Given the description of an element on the screen output the (x, y) to click on. 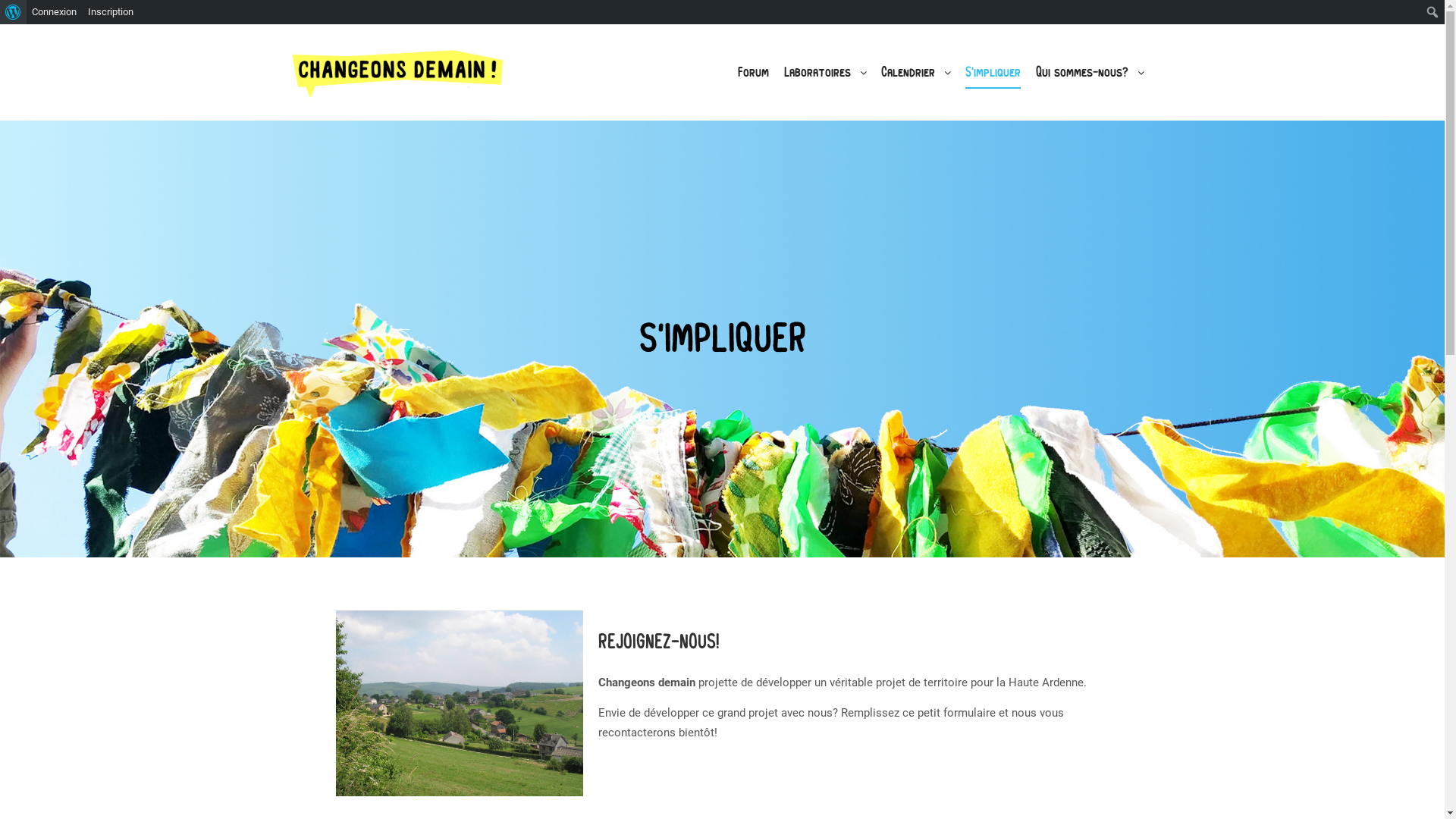
Connexion Element type: text (54, 12)
Forum Element type: text (752, 72)
Changeons demain Element type: hover (396, 72)
Rechercher Element type: text (24, 12)
Calendrier Element type: text (905, 72)
Qui sommes-nous? Element type: text (1079, 72)
Inscription Element type: text (110, 12)
Laboratoires Element type: text (814, 72)
